Given the description of an element on the screen output the (x, y) to click on. 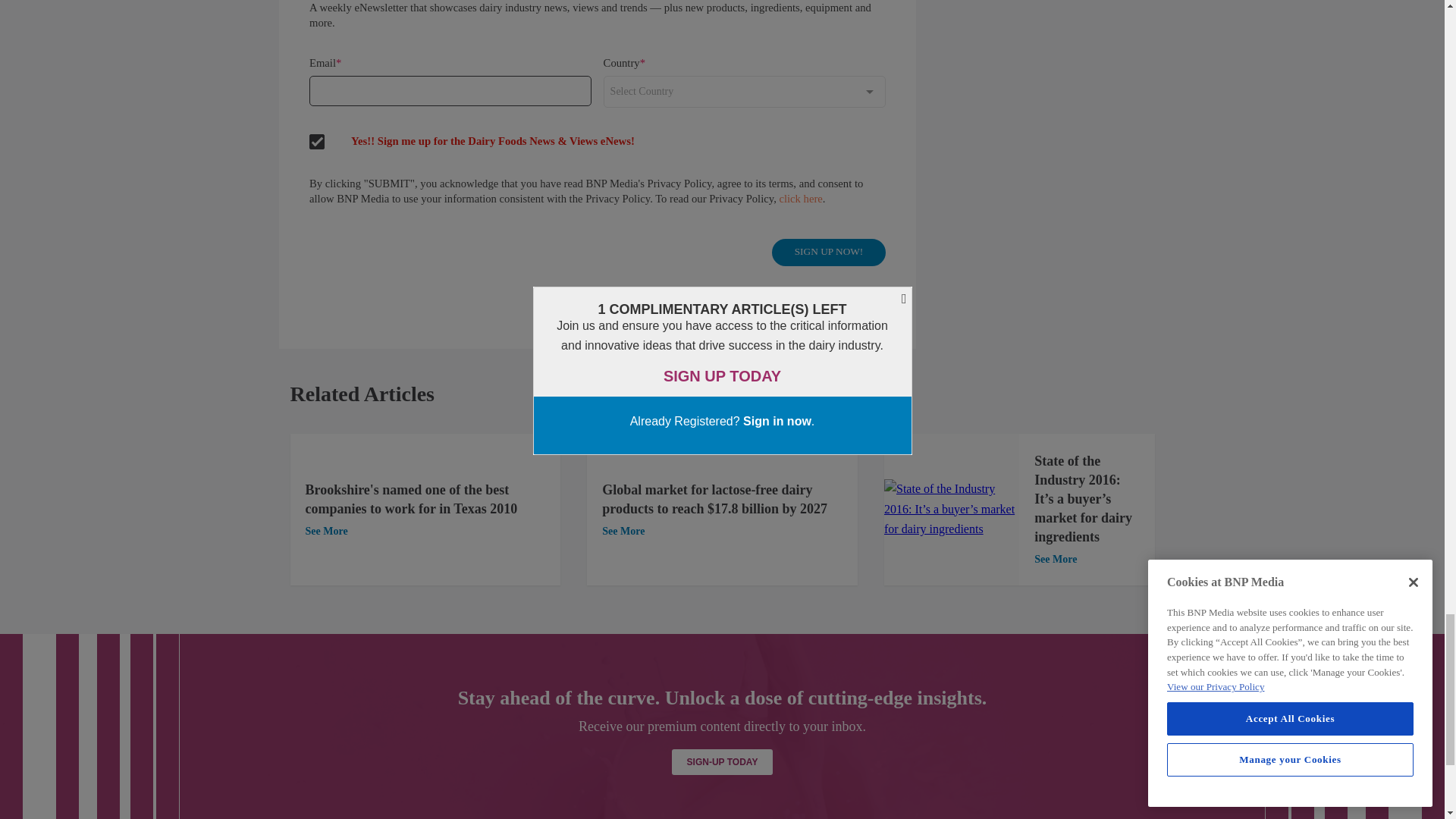
1 (951, 508)
